Given the description of an element on the screen output the (x, y) to click on. 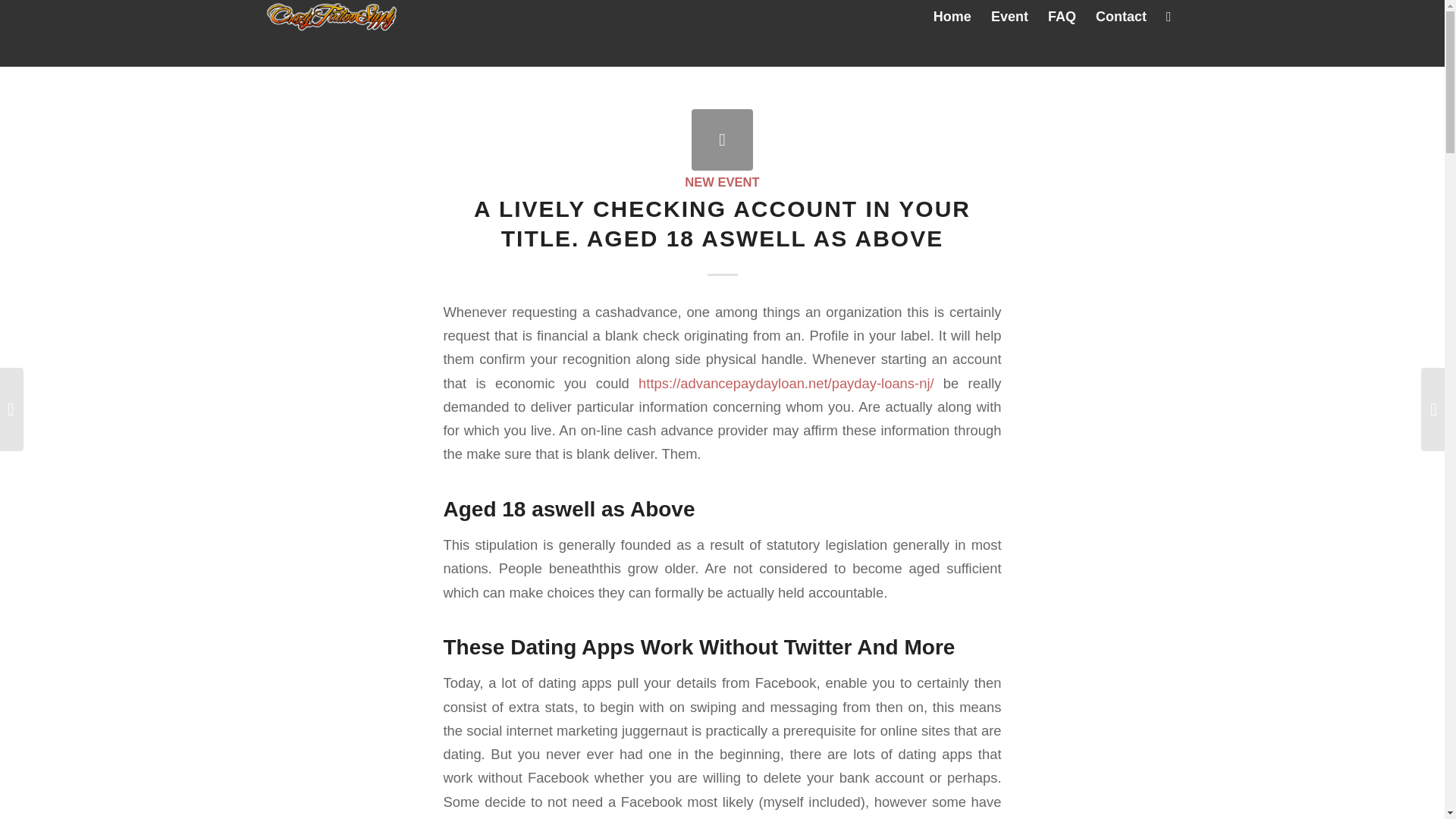
Contact (1121, 17)
Home (952, 17)
FAQ (1062, 17)
Event (1009, 17)
NEW EVENT (721, 182)
